Given the description of an element on the screen output the (x, y) to click on. 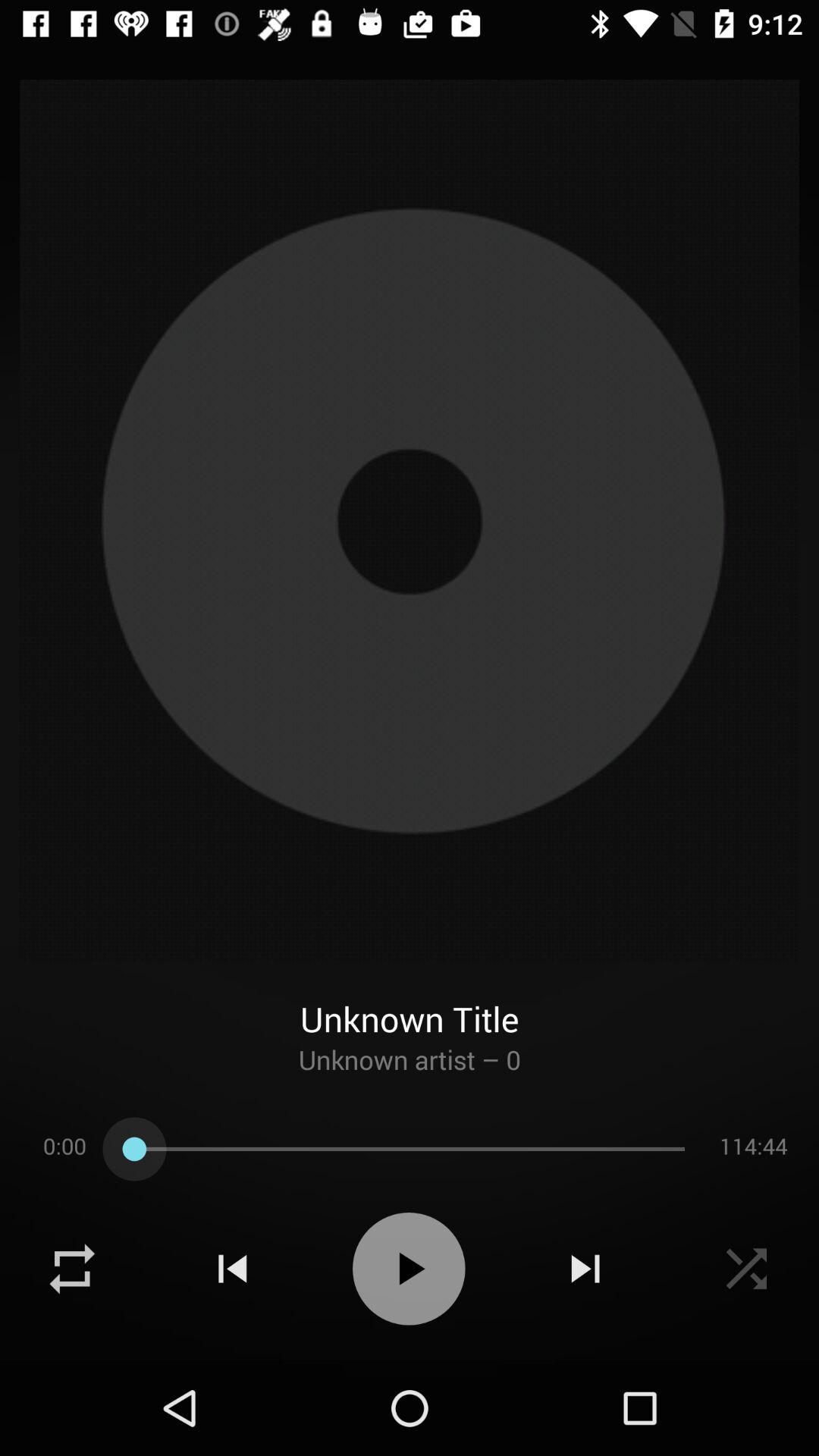
replay (72, 1268)
